Given the description of an element on the screen output the (x, y) to click on. 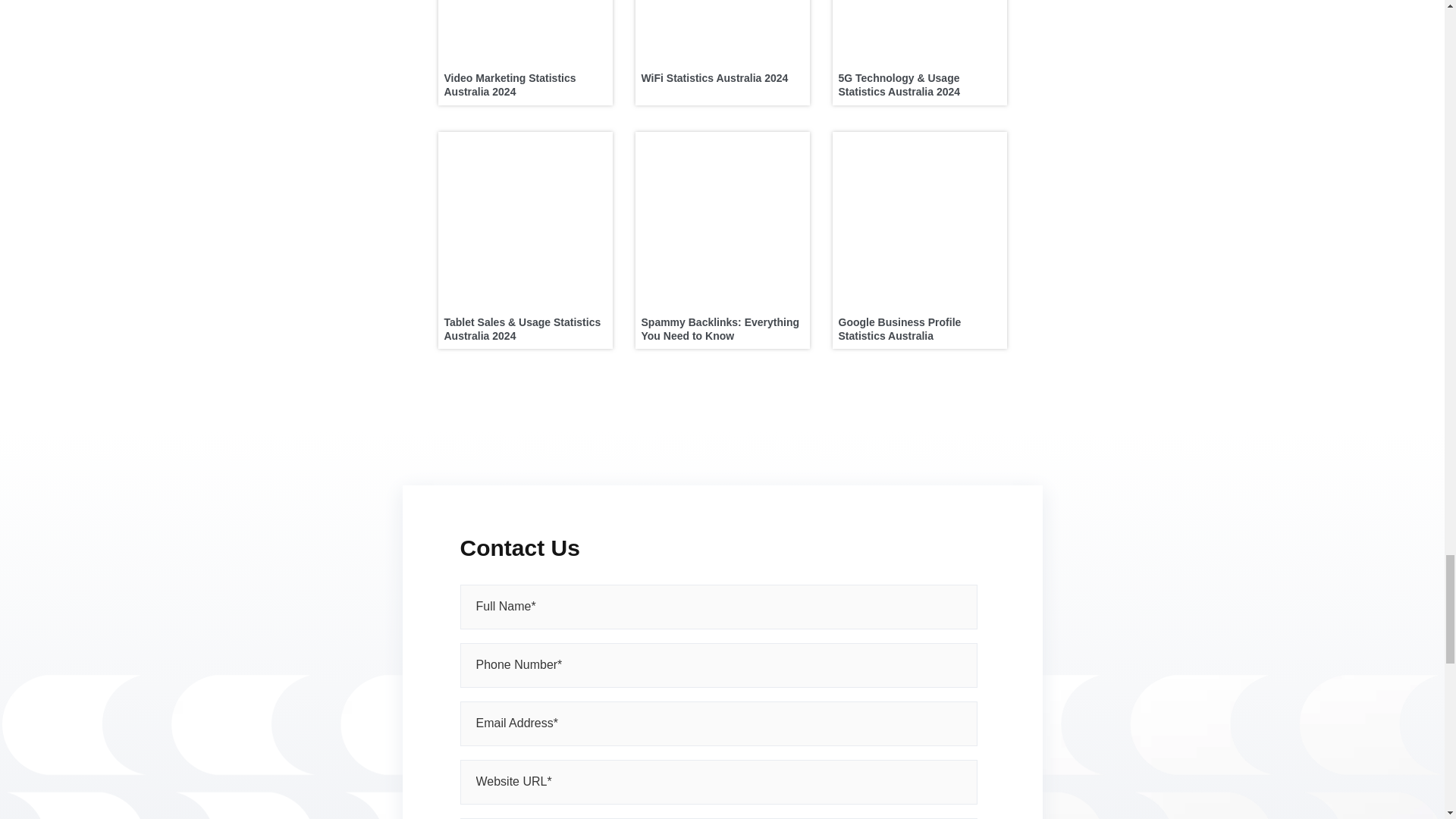
Spammy Backlinks: Everything You Need to Know (720, 328)
Video Marketing Statistics Australia 2024 (510, 84)
WiFi Statistics Australia 2024 (715, 78)
Google Business Profile Statistics Australia (899, 328)
